Given the description of an element on the screen output the (x, y) to click on. 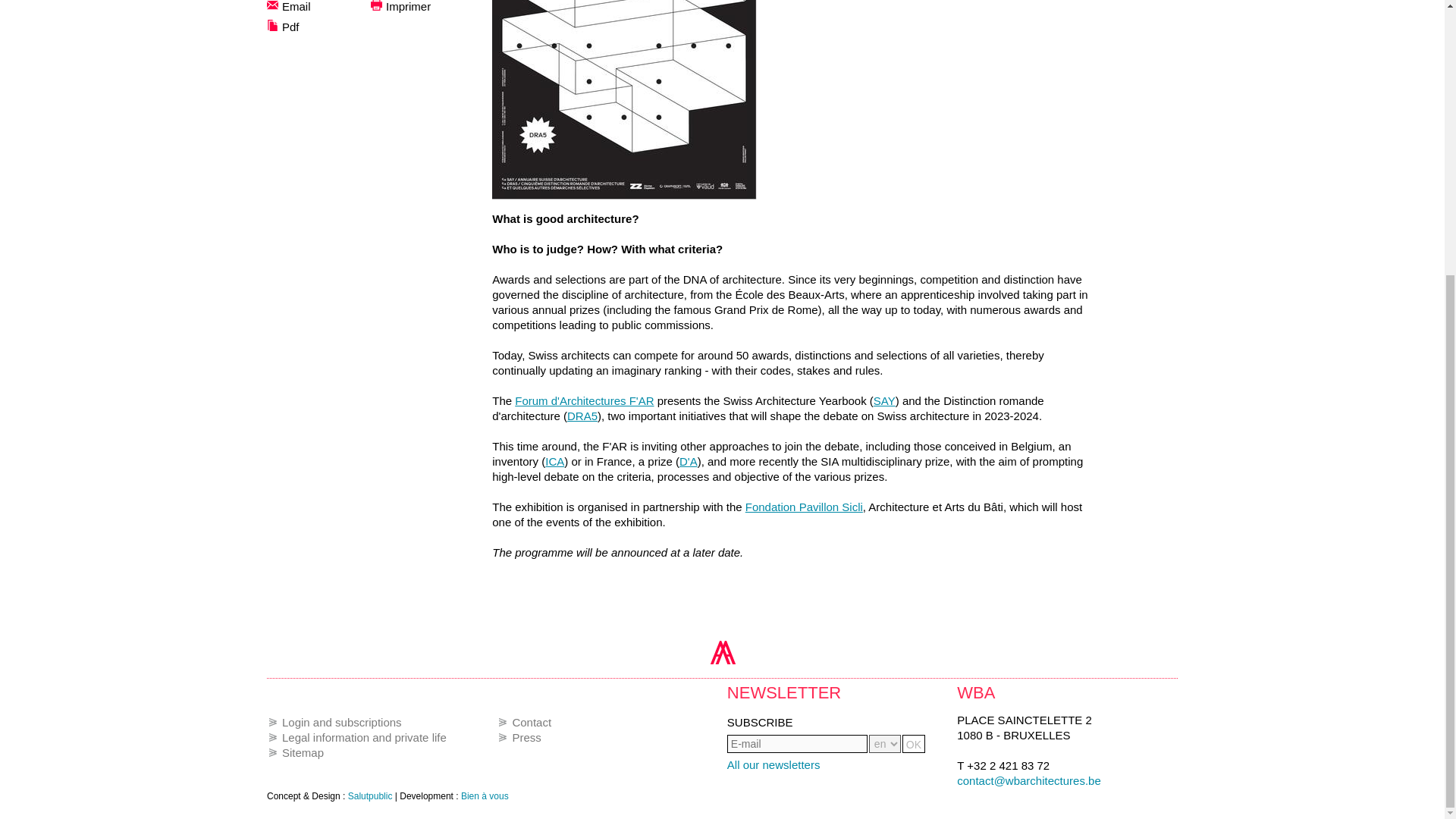
Forum d'Architectures F'AR (584, 400)
Pdf (326, 27)
OK (341, 721)
Contact (913, 743)
Press (531, 721)
ICA (526, 737)
DRA5 (554, 461)
Email (581, 415)
D'A (326, 7)
back to top (688, 461)
All our newsletters (722, 647)
Imprimer (773, 764)
Fondation Pavillon Sicli (429, 7)
OK (804, 506)
